Given the description of an element on the screen output the (x, y) to click on. 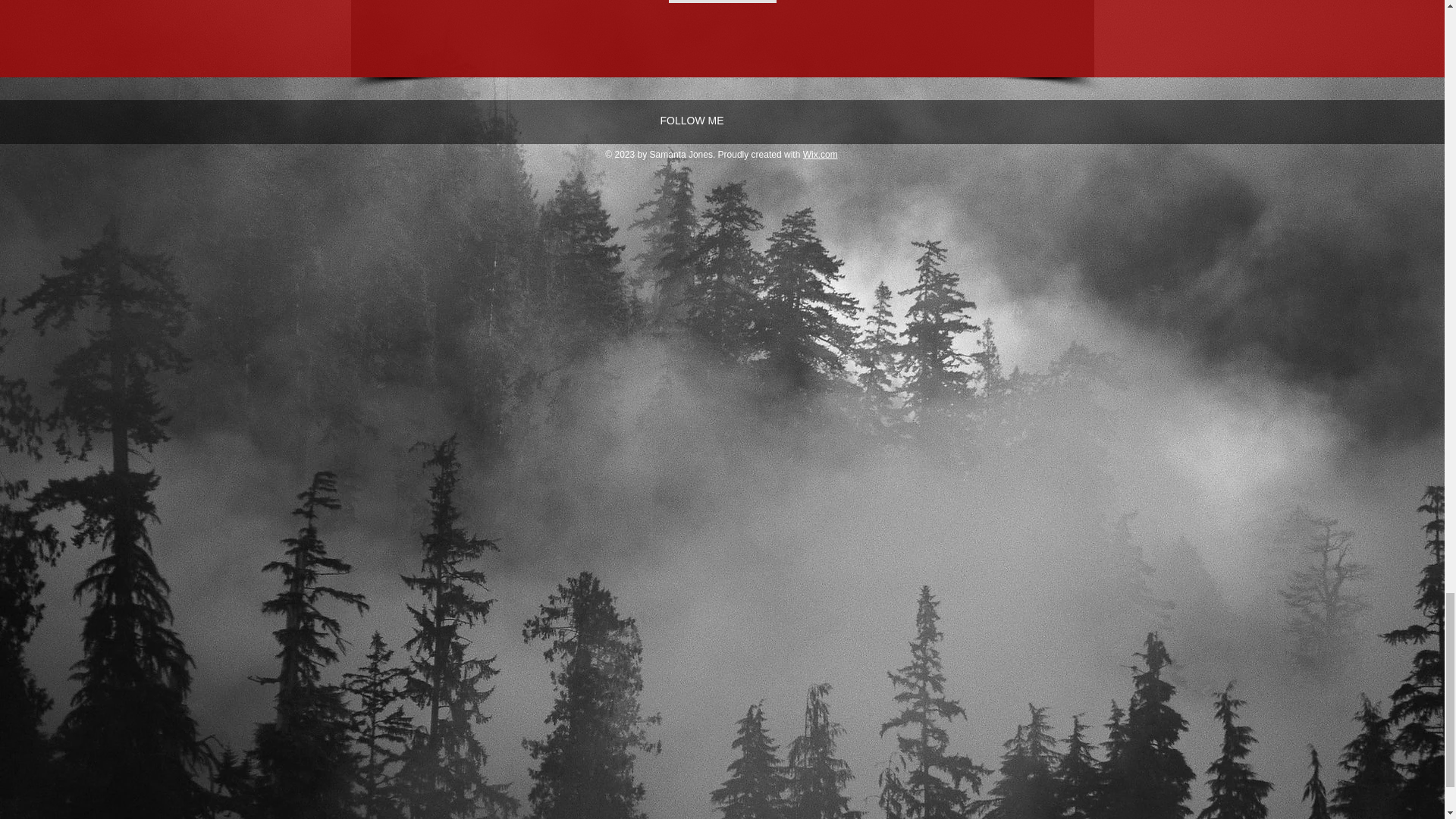
Start Now (722, 1)
Wix.com (820, 154)
